Given the description of an element on the screen output the (x, y) to click on. 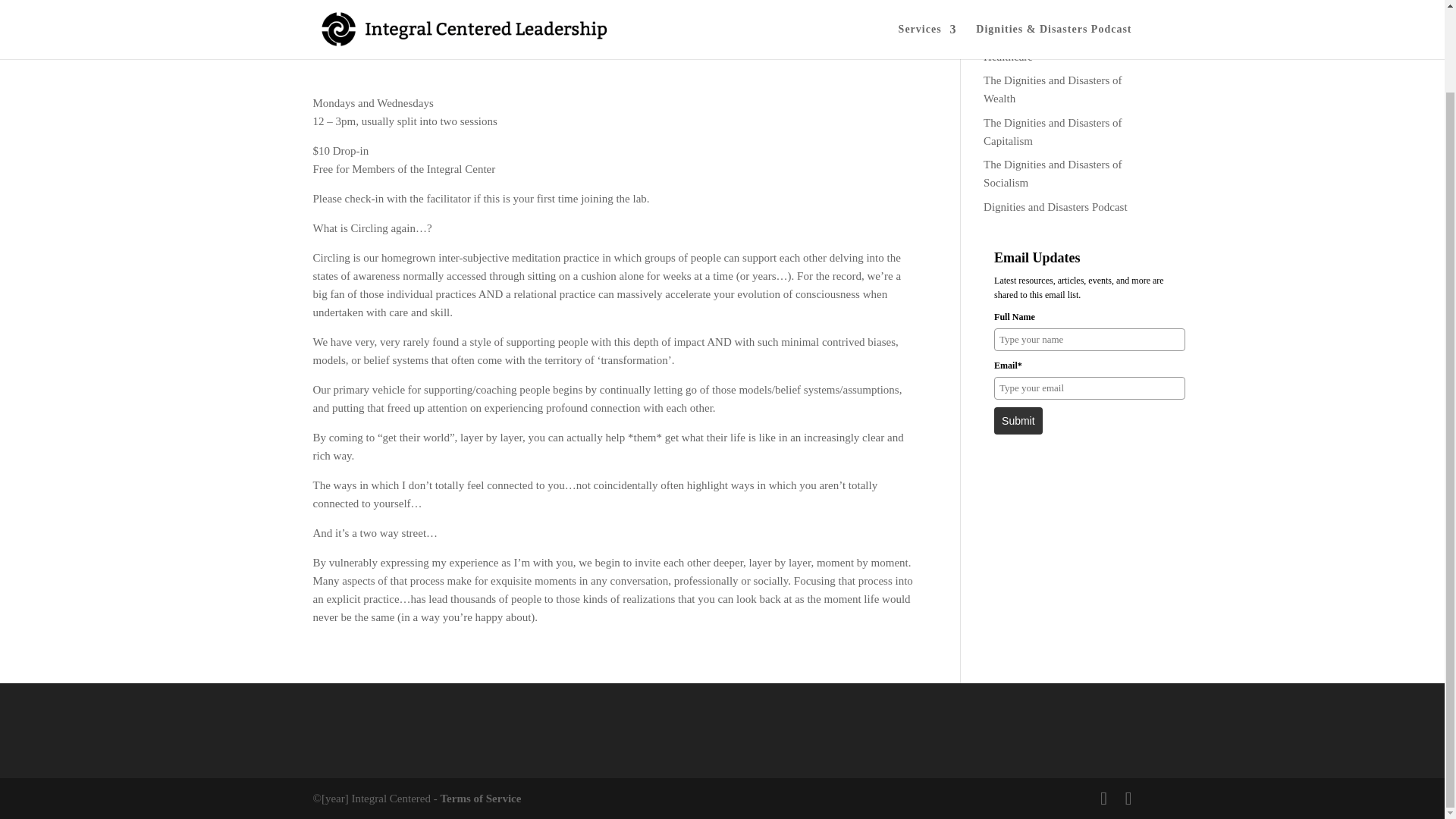
Terms of Service (480, 798)
Uncategorized (515, 45)
Dignities and Disasters Podcast (1055, 206)
The Dignities and Disasters of Wealth (1052, 89)
Submit (1018, 420)
0 comments (580, 45)
The Dignities and Disasters of Socialism (1052, 173)
The Dignities and Disasters of Healthcare (1052, 47)
Posts by Robert MacNaughton (372, 45)
The Dignities and Disasters of Capitalism (1052, 132)
Robert MacNaughton (372, 45)
